Given the description of an element on the screen output the (x, y) to click on. 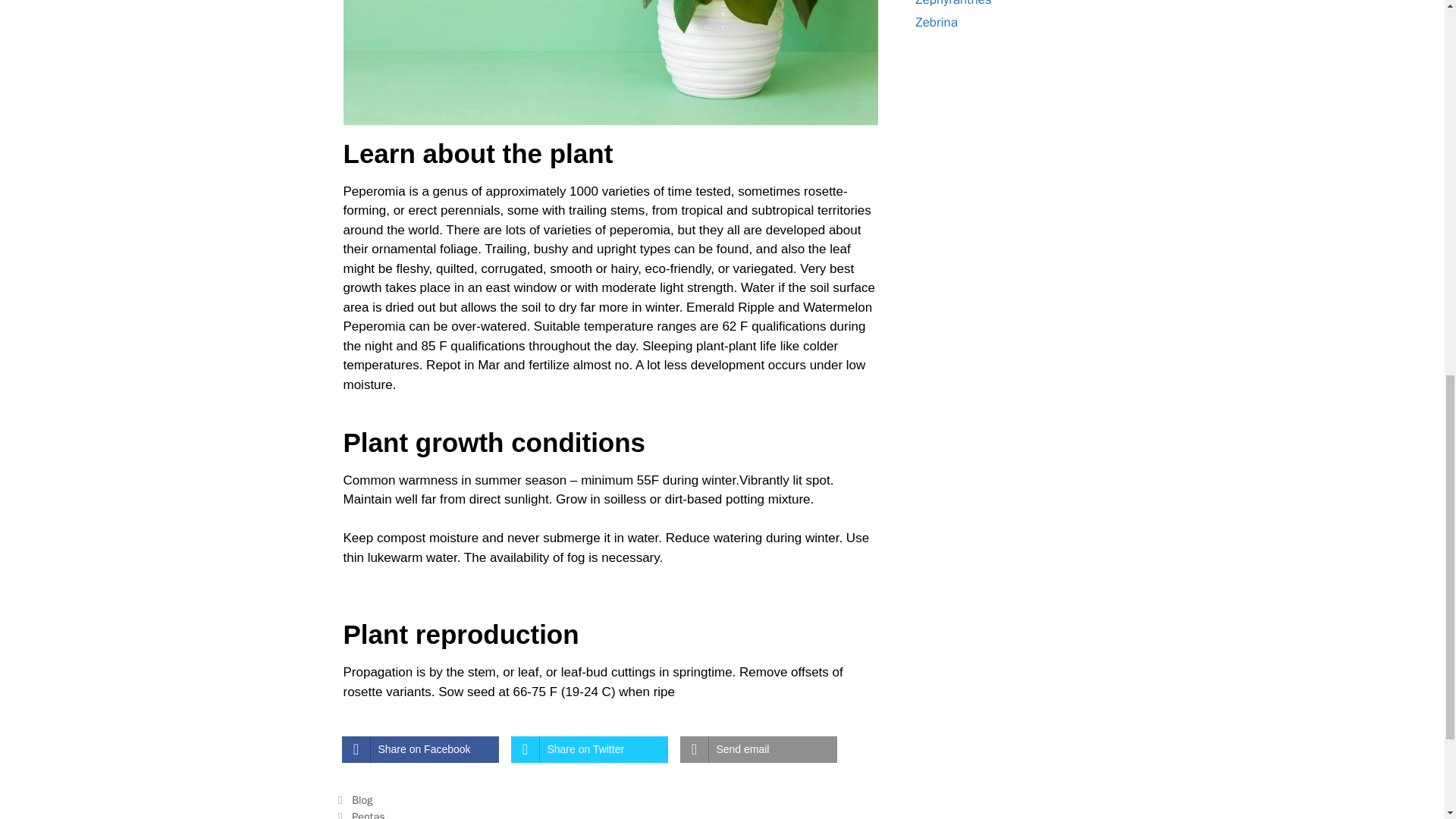
Send email (757, 749)
Share on Facebook (418, 749)
Share on Twitter (589, 749)
Zephyranthes (953, 3)
Scroll back to top (1406, 720)
Share on Facebook (418, 749)
Share on Twitter (589, 749)
Blog (362, 799)
Share it on Email (757, 749)
Pentas (368, 814)
